Given the description of an element on the screen output the (x, y) to click on. 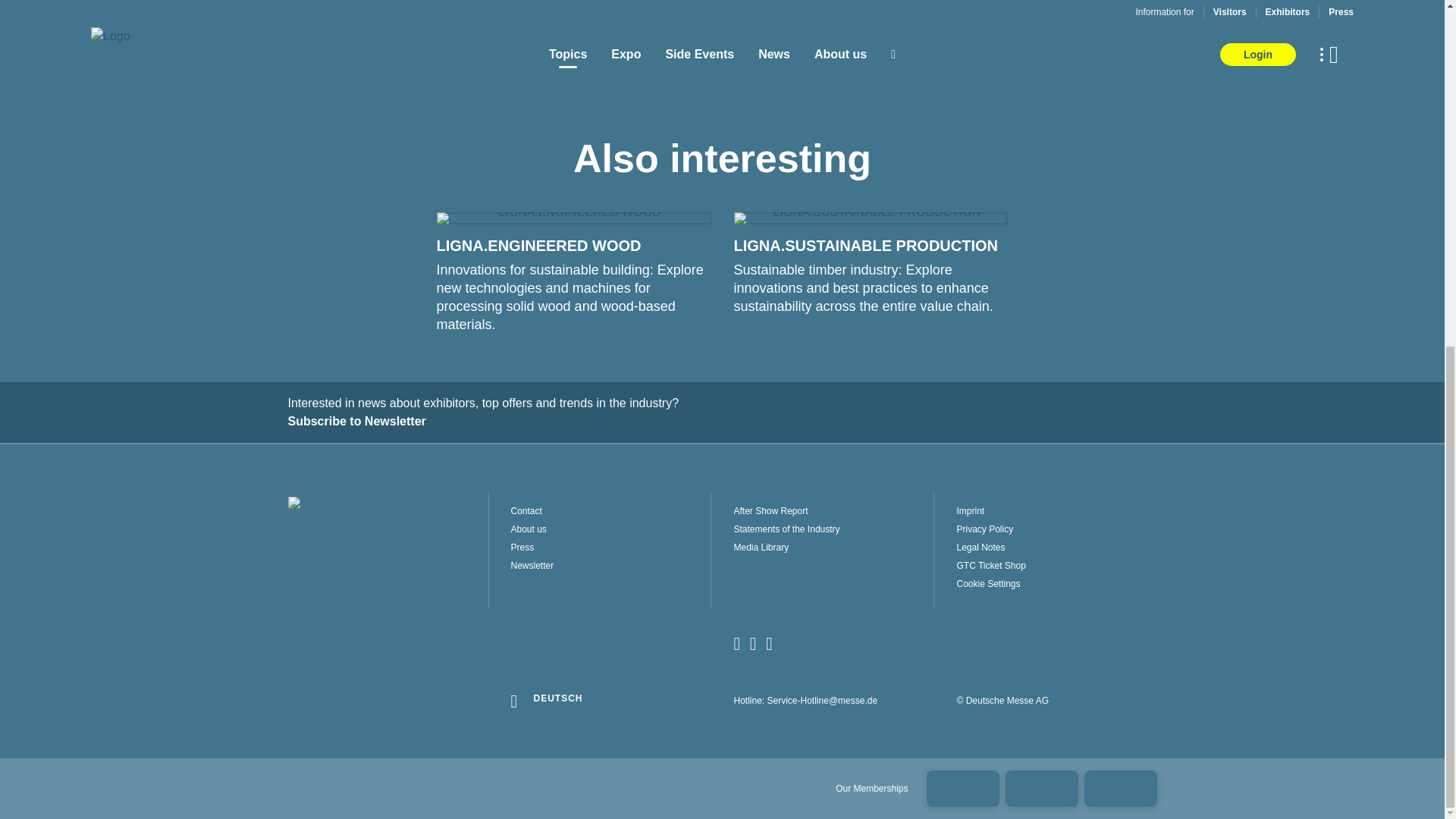
GTC Ticket Shop (1056, 565)
Cookie Settings (1056, 583)
Media Library (833, 547)
After Show Report (833, 510)
Legal Notes (1056, 547)
About us (611, 529)
Newsletter (611, 565)
Statements of the Industry (833, 529)
Contact (611, 510)
